Given the description of an element on the screen output the (x, y) to click on. 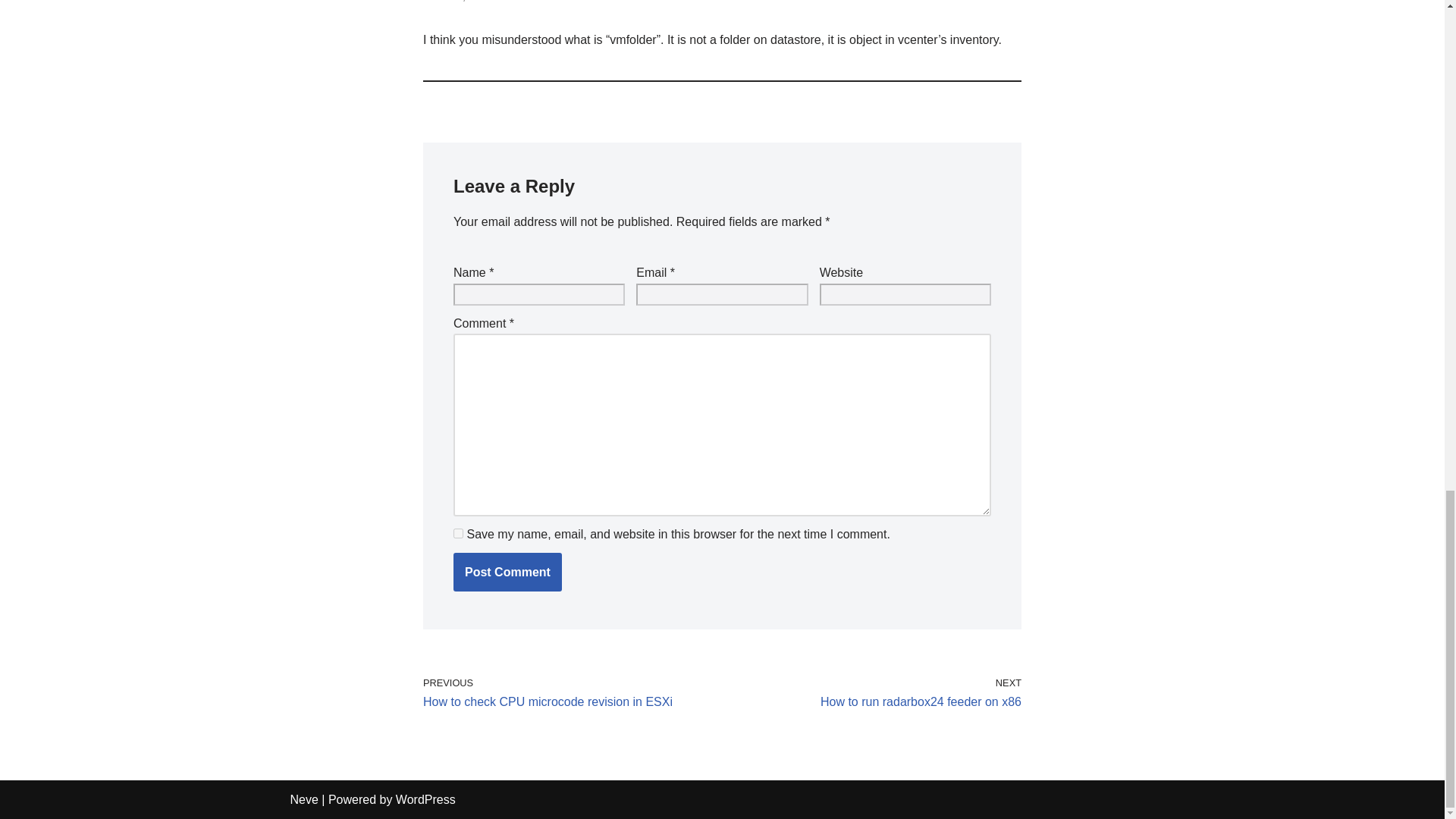
WordPress (568, 692)
yes (425, 799)
Post Comment (457, 533)
Post Comment (507, 572)
Neve (507, 572)
March 9, 2022 at 18:02 (875, 692)
